Given the description of an element on the screen output the (x, y) to click on. 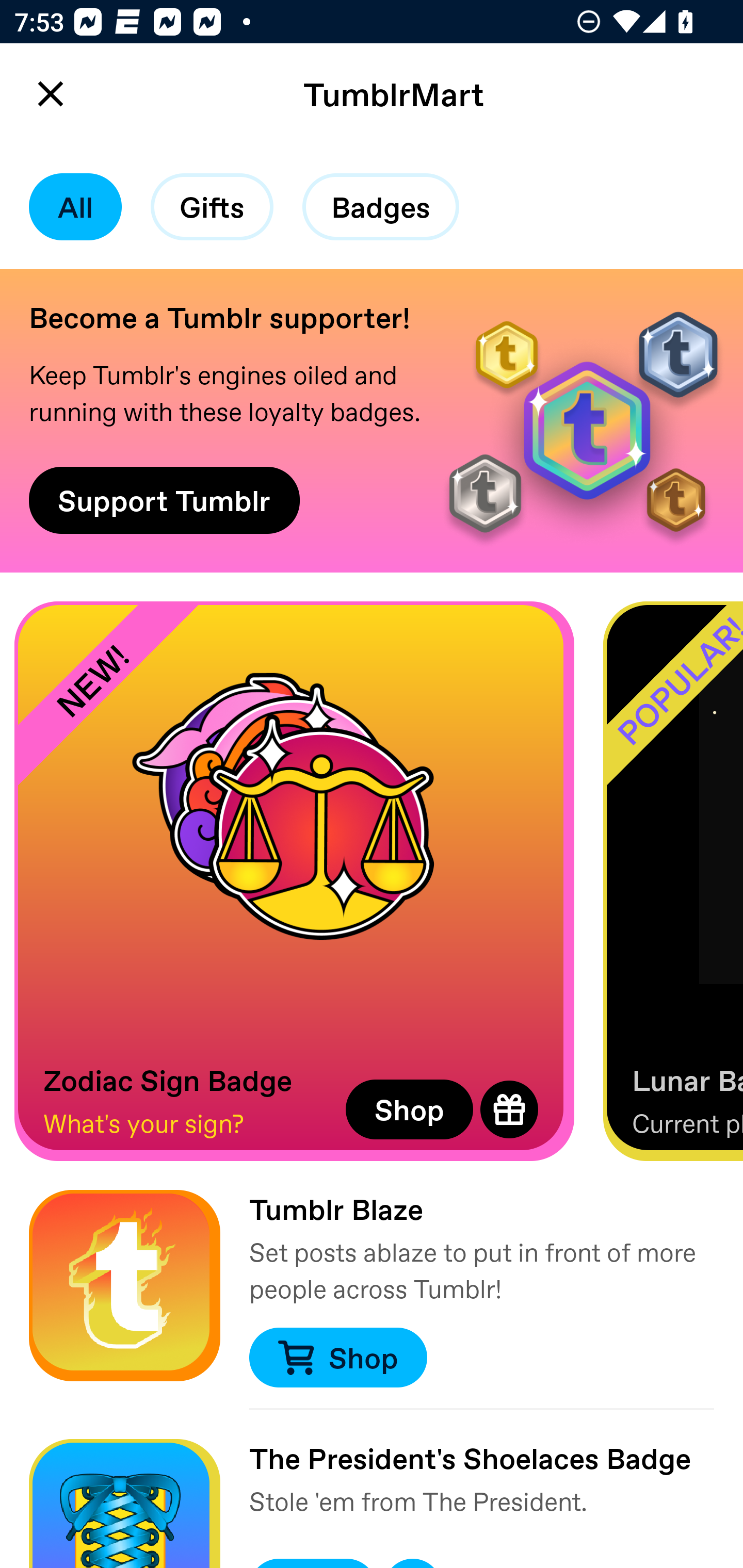
All (74, 206)
Gifts (211, 206)
Badges (380, 206)
Support Tumblr (163, 500)
NEW! Zodiac Sign Badge What's your sign? Shop (294, 881)
Shop (409, 1108)
Shop (337, 1357)
